Given the description of an element on the screen output the (x, y) to click on. 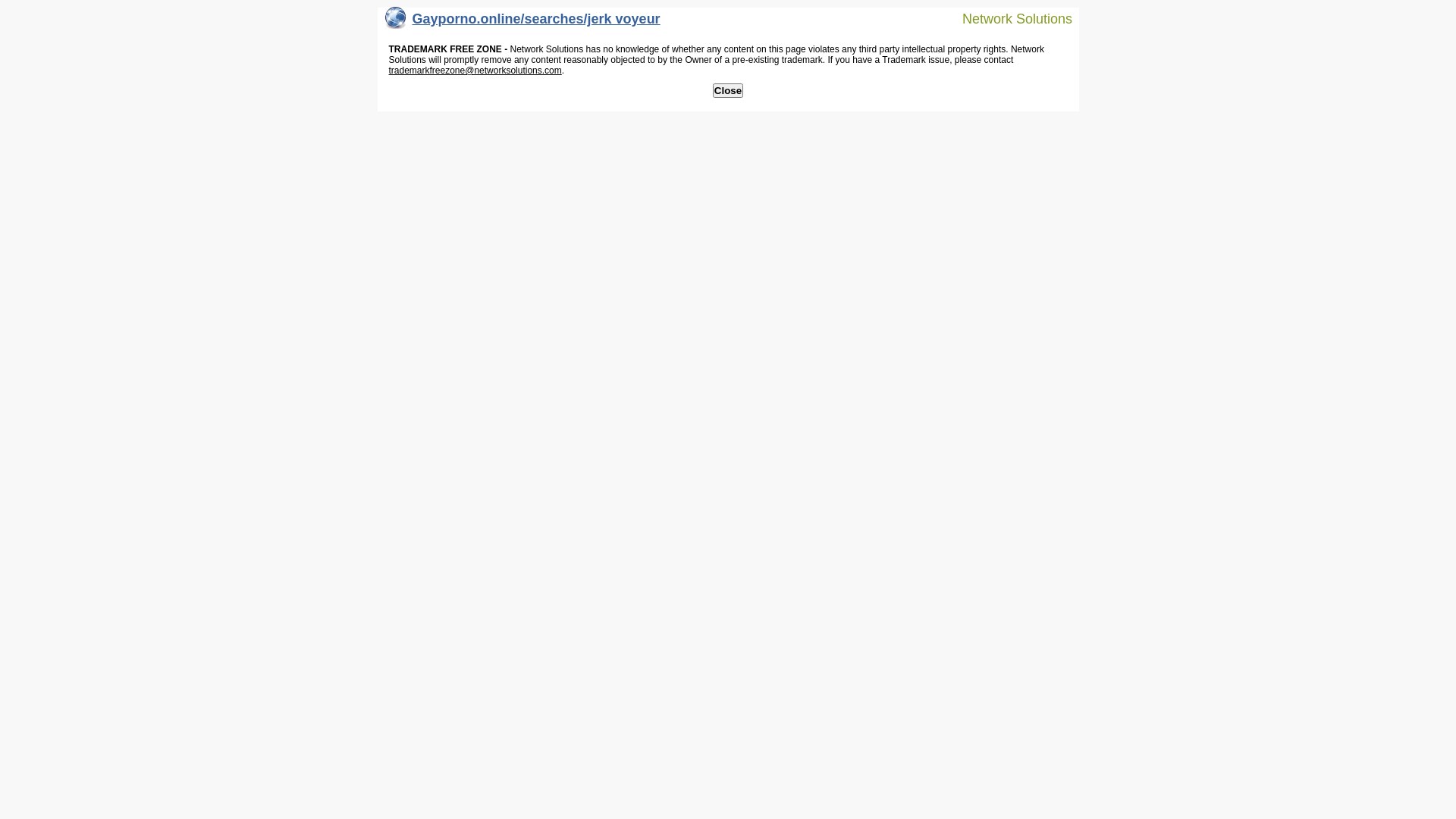
Network Solutions Element type: text (1007, 17)
Close Element type: text (727, 90)
trademarkfreezone@networksolutions.com Element type: text (474, 70)
Gayporno.online/searches/jerk voyeur Element type: text (522, 21)
